Given the description of an element on the screen output the (x, y) to click on. 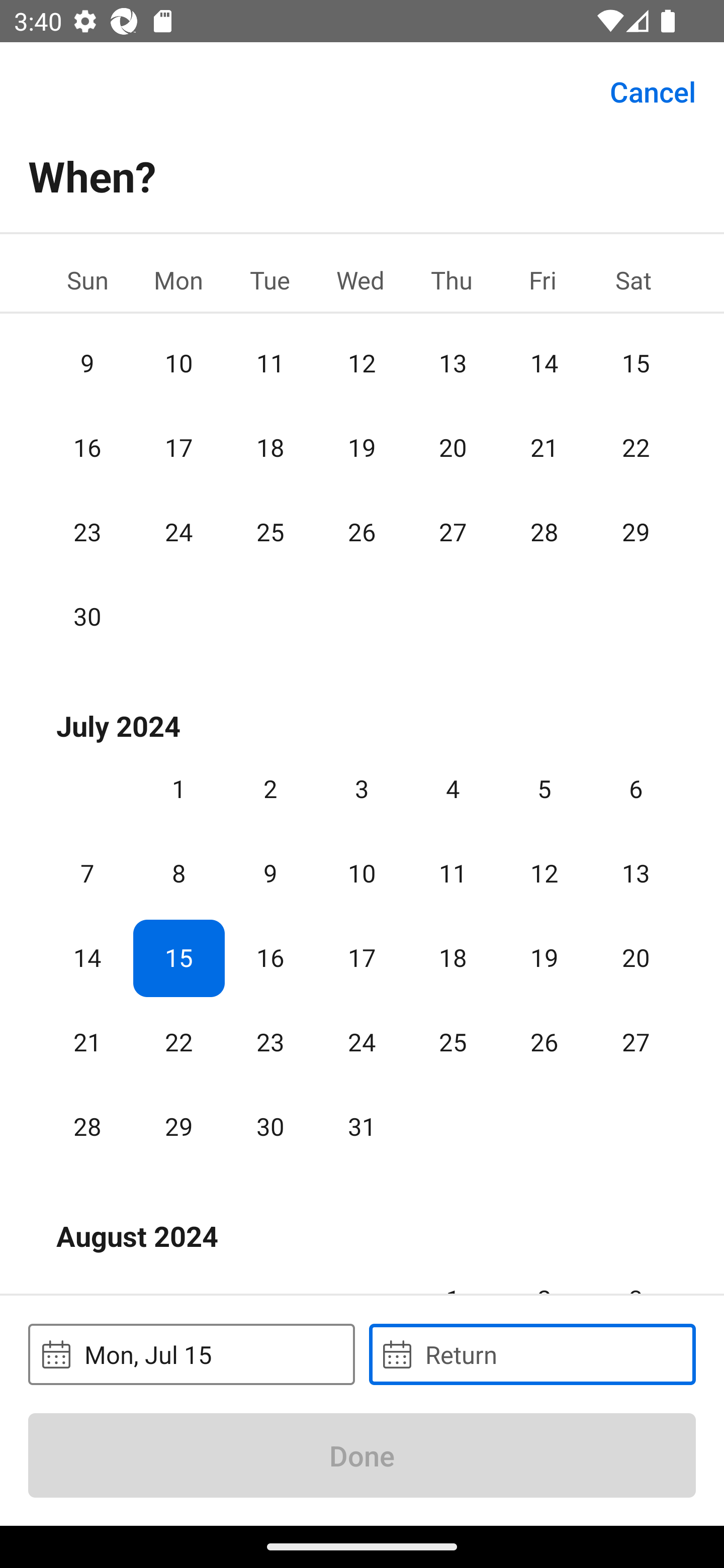
Cancel (652, 90)
Mon, Jul 15 (191, 1353)
Return (532, 1353)
Done (361, 1454)
